Given the description of an element on the screen output the (x, y) to click on. 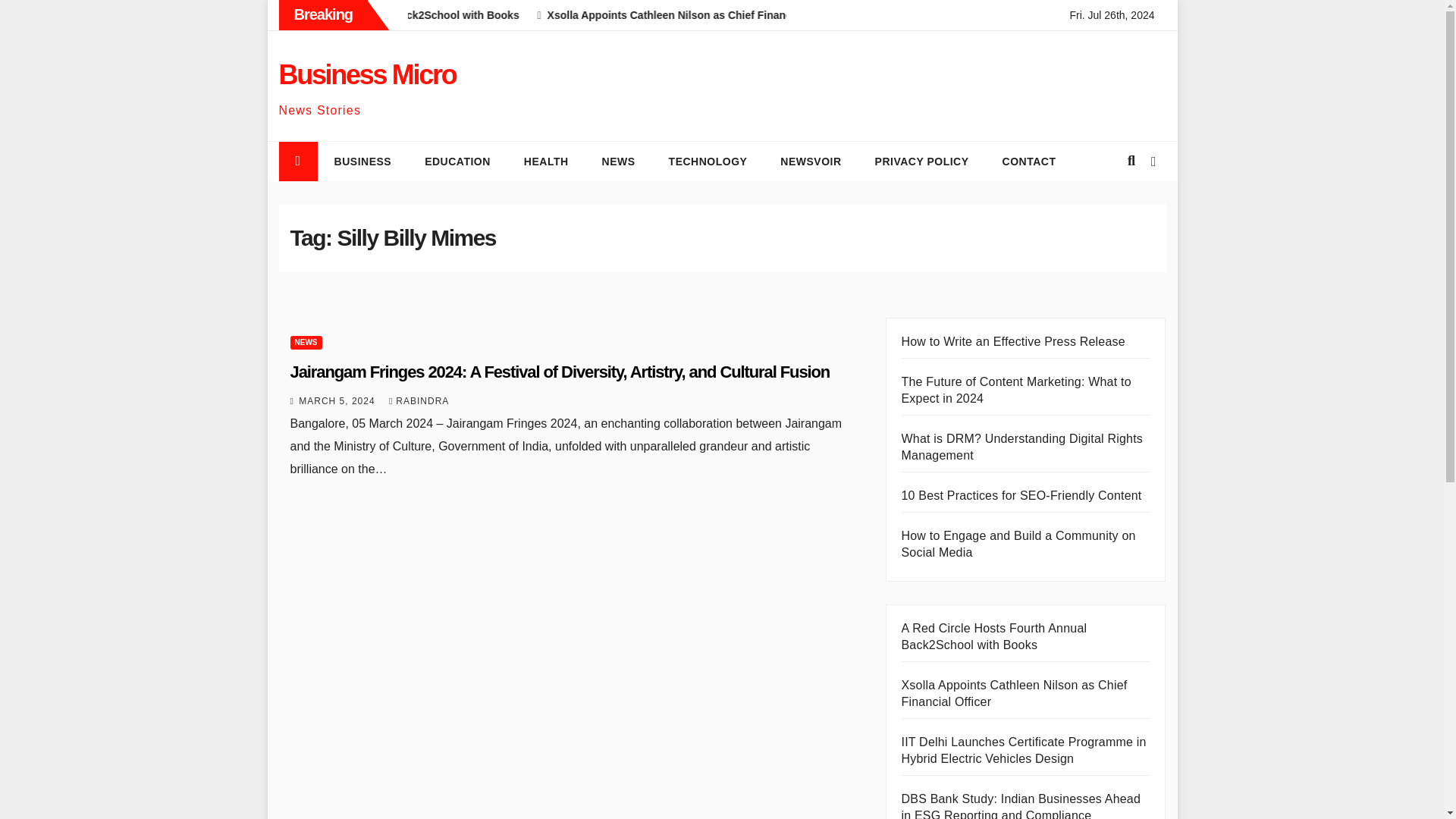
A Red Circle Hosts Fourth Annual Back2School with Books (993, 636)
EDUCATION (456, 160)
TECHNOLOGY (708, 160)
technology (708, 160)
The Future of Content Marketing: What to Expect in 2024 (1016, 389)
MARCH 5, 2024 (338, 400)
newsvoir (809, 160)
Contact (1029, 160)
A Red Circle Hosts Fourth Annual Back2School with Books (556, 15)
Xsolla Appoints Cathleen Nilson as Chief Financial Officer (880, 15)
PRIVACY POLICY (922, 160)
Xsolla Appoints Cathleen Nilson as Chief Financial Officer (1013, 693)
What is DRM? Understanding Digital Rights Management (1021, 446)
education (456, 160)
Business Micro (368, 74)
